Given the description of an element on the screen output the (x, y) to click on. 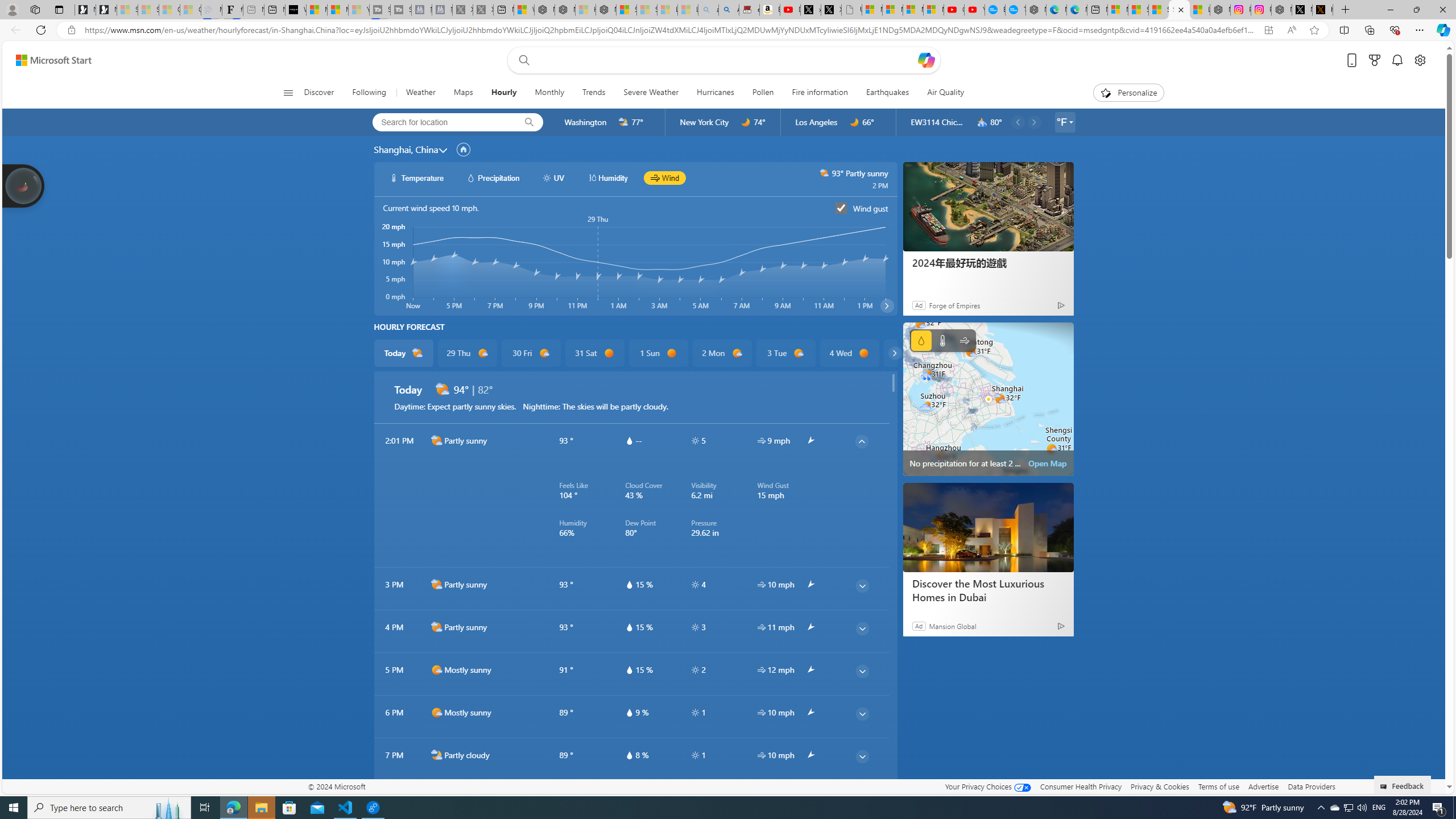
Newsletter Sign Up (106, 9)
Monthly (549, 92)
help.x.com | 524: A timeout occurred (1322, 9)
Earthquakes (888, 92)
Gloom - YouTube (954, 9)
hourlyChart/temperatureWhite (394, 177)
Terms of use (1218, 785)
Search for location (440, 122)
Class: button-glyph (287, 92)
